Given the description of an element on the screen output the (x, y) to click on. 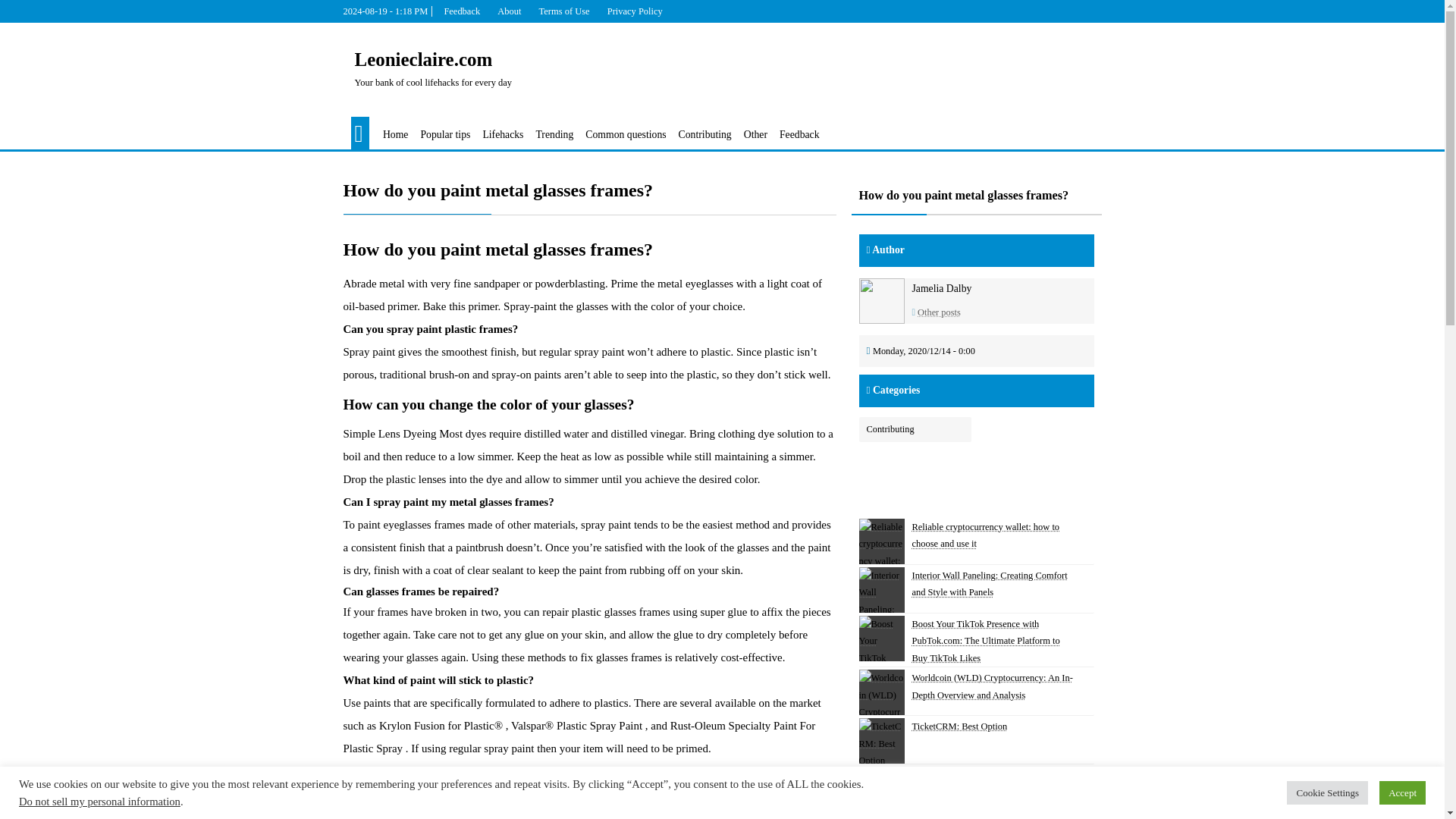
TicketCRM: Best Option (881, 740)
Other (755, 134)
Lifehacks (501, 134)
Other posts (938, 312)
Popular tips (445, 134)
How do you paint metal glasses frames? (588, 190)
About (508, 10)
Feedback (461, 10)
Reliable cryptocurrency wallet: how to choose and use it (881, 541)
